Given the description of an element on the screen output the (x, y) to click on. 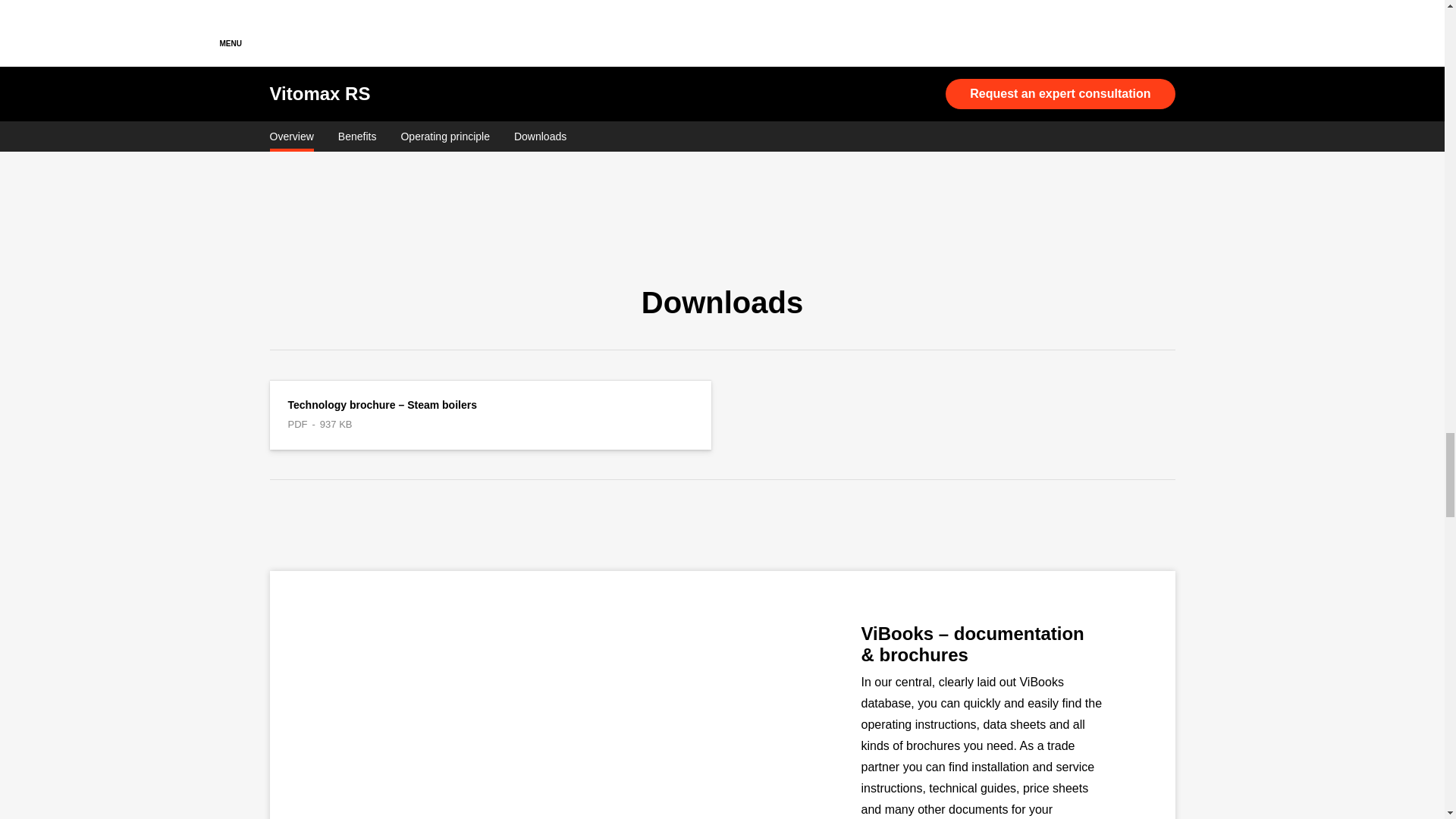
ViBooks (529, 694)
